Given the description of an element on the screen output the (x, y) to click on. 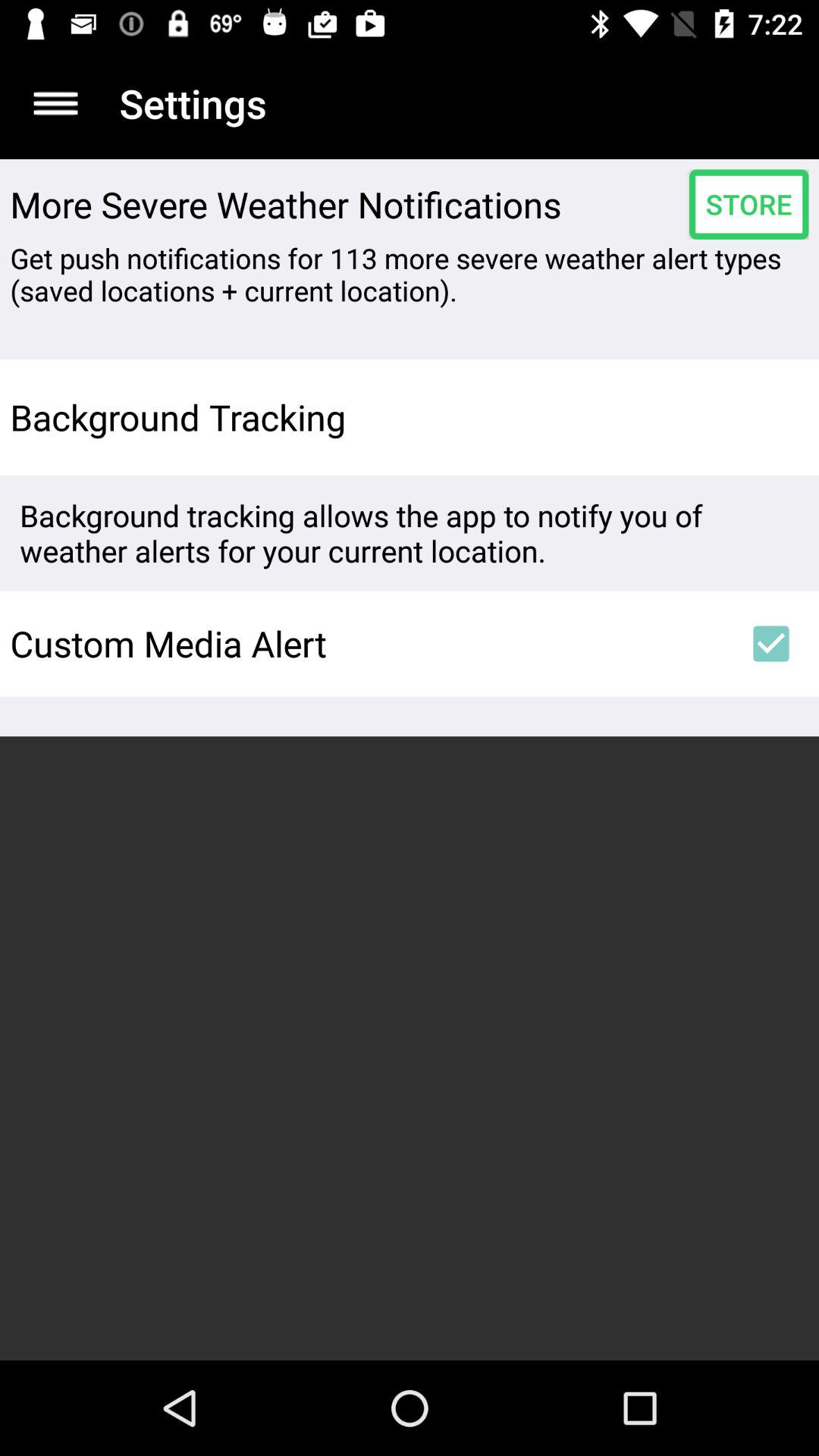
select item next to settings item (55, 103)
